Given the description of an element on the screen output the (x, y) to click on. 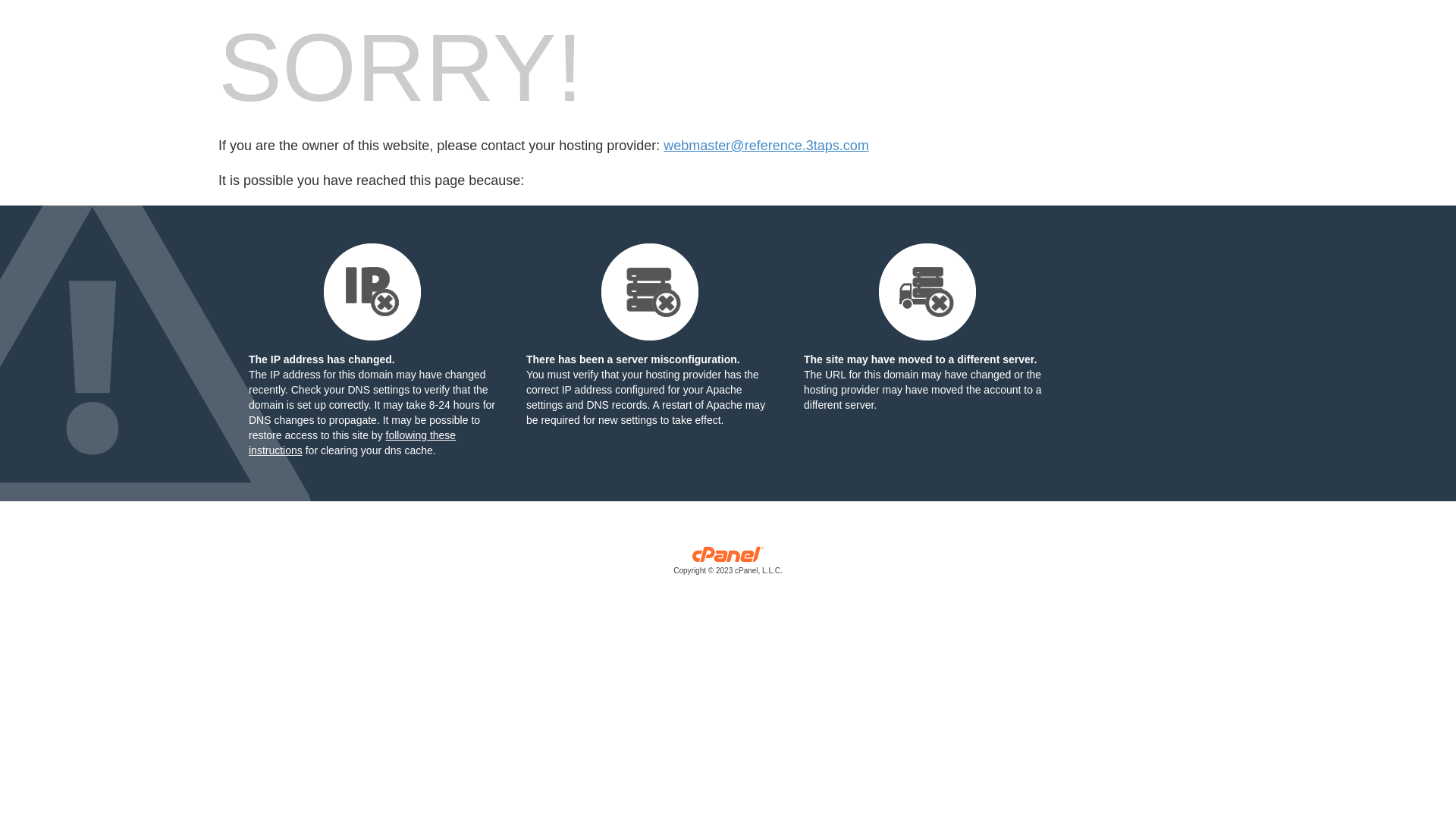
following these instructions Element type: text (351, 442)
webmaster@reference.3taps.com Element type: text (765, 145)
